Given the description of an element on the screen output the (x, y) to click on. 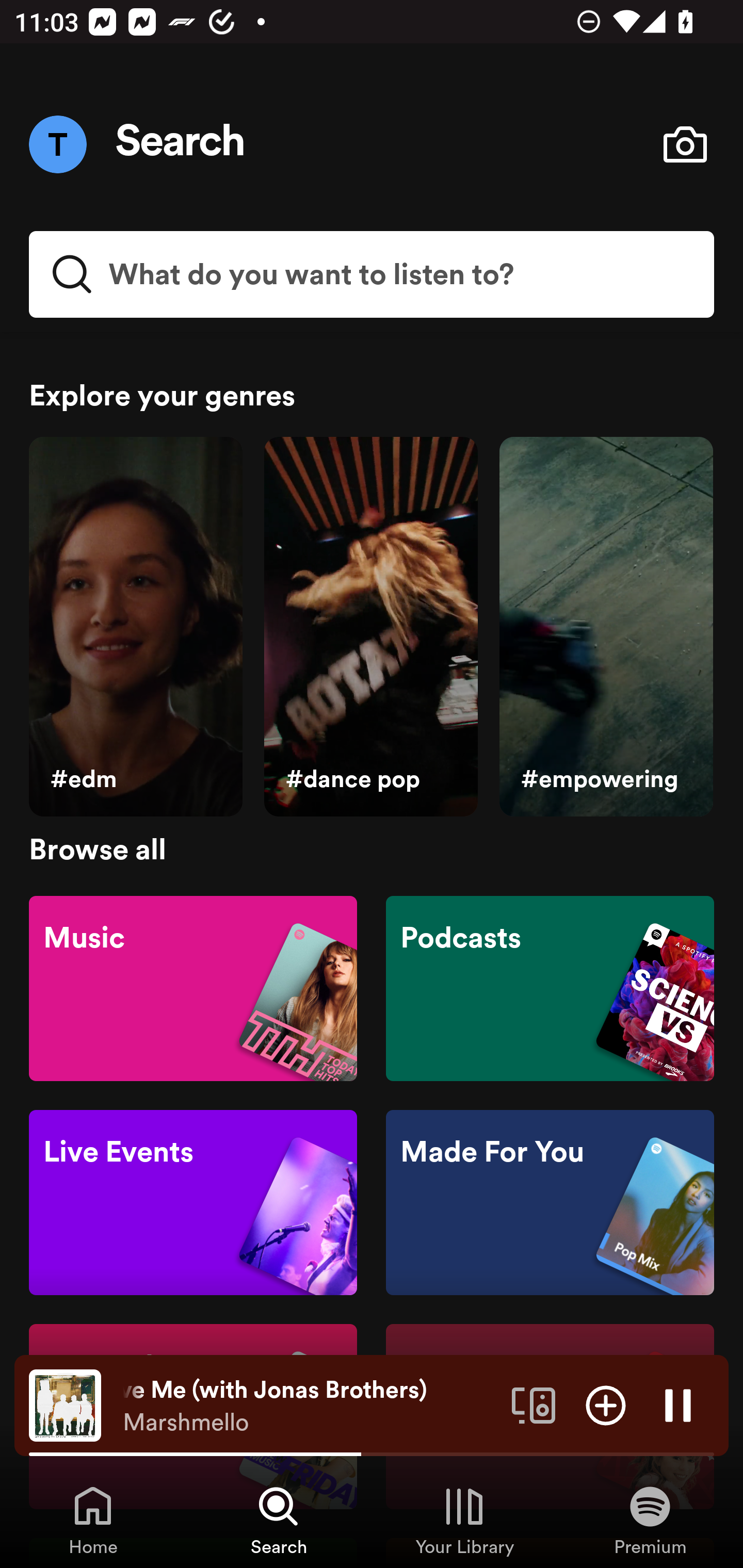
Menu (57, 144)
Open camera (685, 145)
Search (180, 144)
#edm (135, 626)
#dance pop (370, 626)
#empowering (606, 626)
Music (192, 987)
Podcasts (549, 987)
Live Events (192, 1202)
Made For You (549, 1202)
The cover art of the currently playing track (64, 1404)
Connect to a device. Opens the devices menu (533, 1404)
Add item (605, 1404)
Pause (677, 1404)
Home, Tab 1 of 4 Home Home (92, 1519)
Search, Tab 2 of 4 Search Search (278, 1519)
Your Library, Tab 3 of 4 Your Library Your Library (464, 1519)
Premium, Tab 4 of 4 Premium Premium (650, 1519)
